Given the description of an element on the screen output the (x, y) to click on. 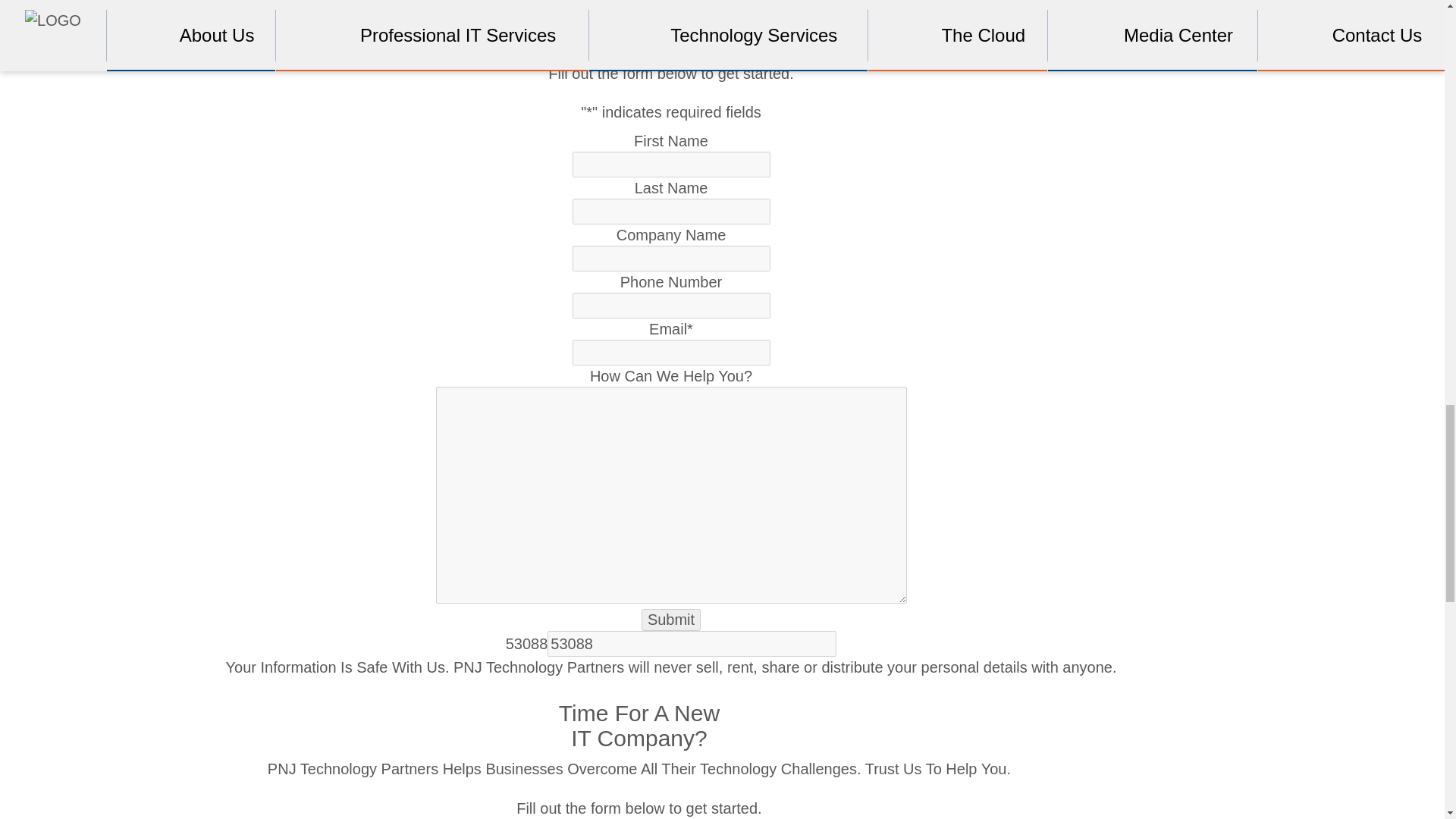
Submit (671, 619)
53088 (691, 643)
